Given the description of an element on the screen output the (x, y) to click on. 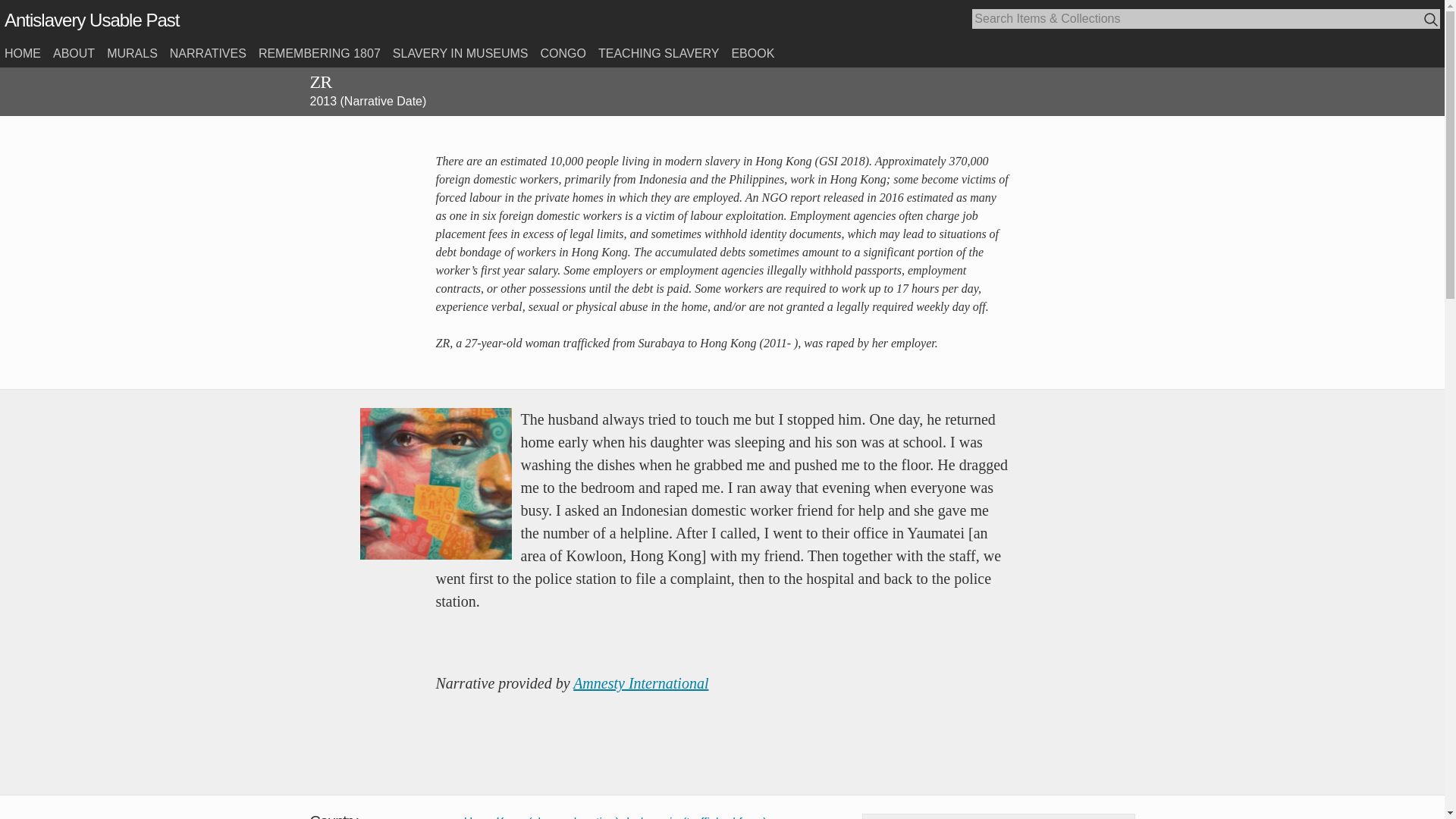
EBOOK (752, 52)
TEACHING SLAVERY (658, 52)
Search (1430, 19)
HOME (22, 52)
REMEMBERING 1807 (319, 52)
Antislavery Usable Past (91, 19)
MURALS (131, 52)
Search (1431, 19)
CONGO (563, 52)
Search (1431, 19)
Amnesty International (640, 682)
ABOUT (73, 52)
NARRATIVES (208, 52)
SLAVERY IN MUSEUMS (460, 52)
